Given the description of an element on the screen output the (x, y) to click on. 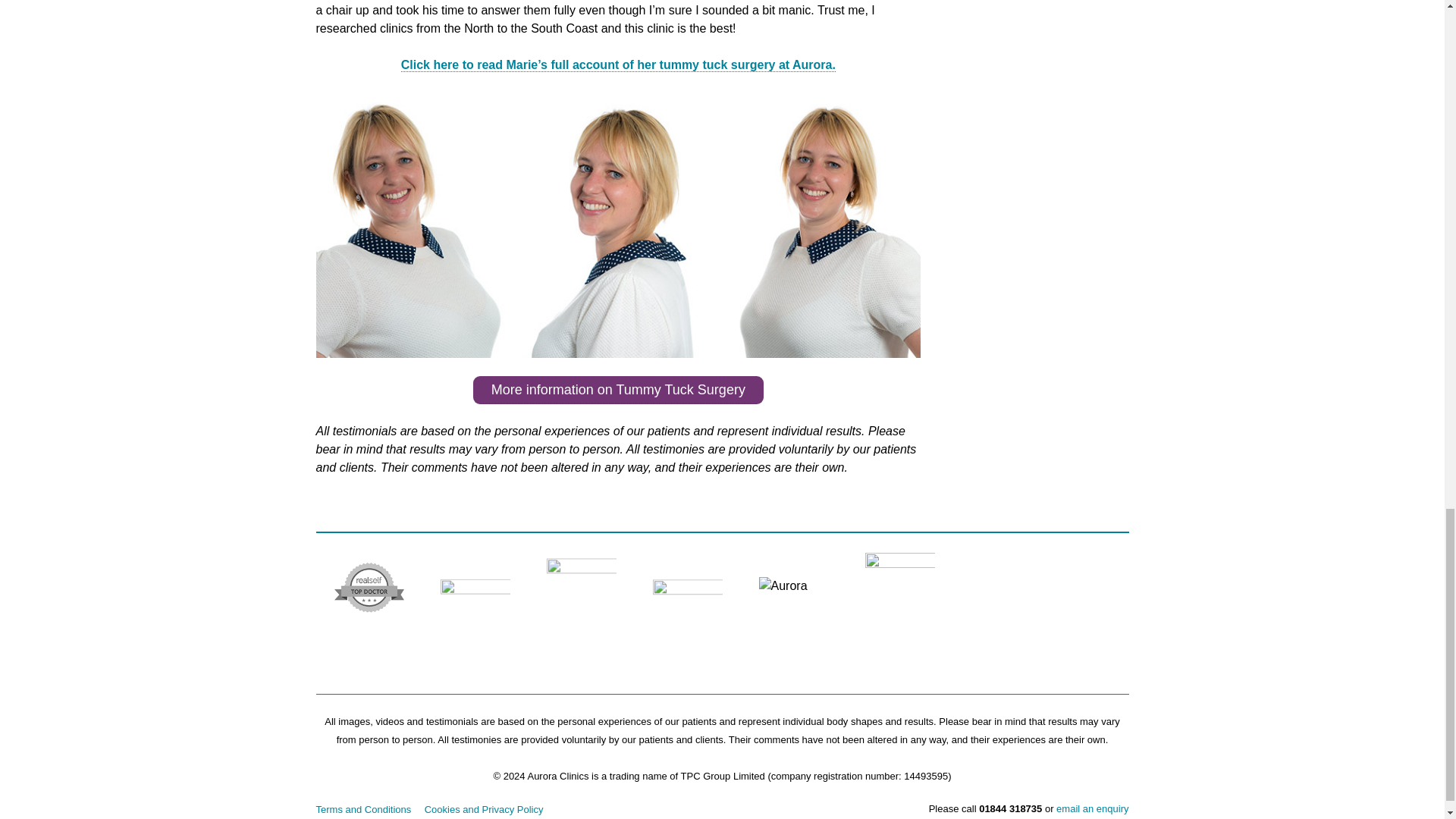
More information on Tummy Tuck Surgery (617, 389)
Terms and Conditions (362, 808)
Cookies and Privacy Policy (484, 808)
